Given the description of an element on the screen output the (x, y) to click on. 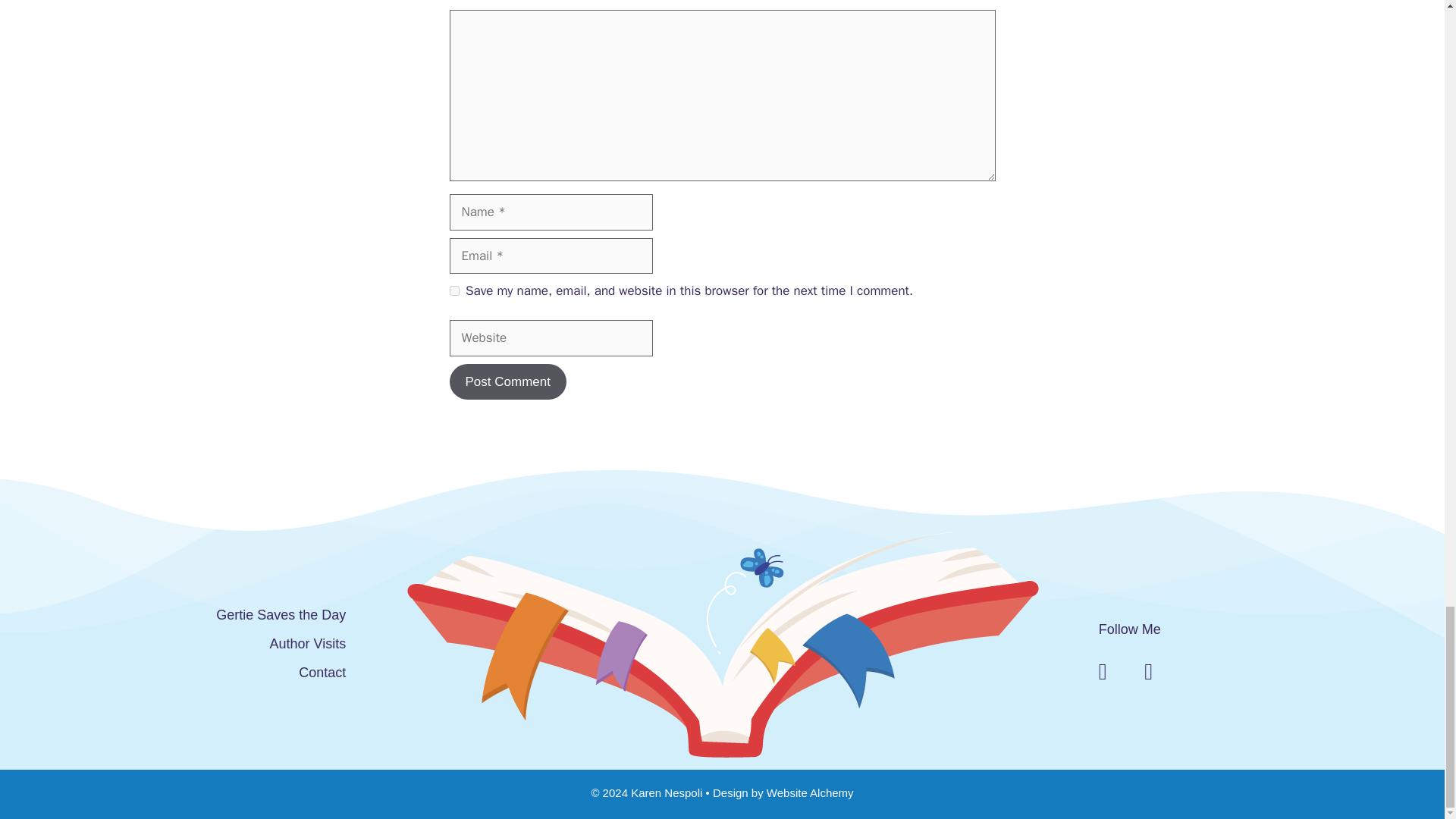
Contact (322, 672)
Gertie Saves the Day (280, 614)
yes (453, 290)
Post Comment (507, 381)
Author Visits (307, 643)
